Given the description of an element on the screen output the (x, y) to click on. 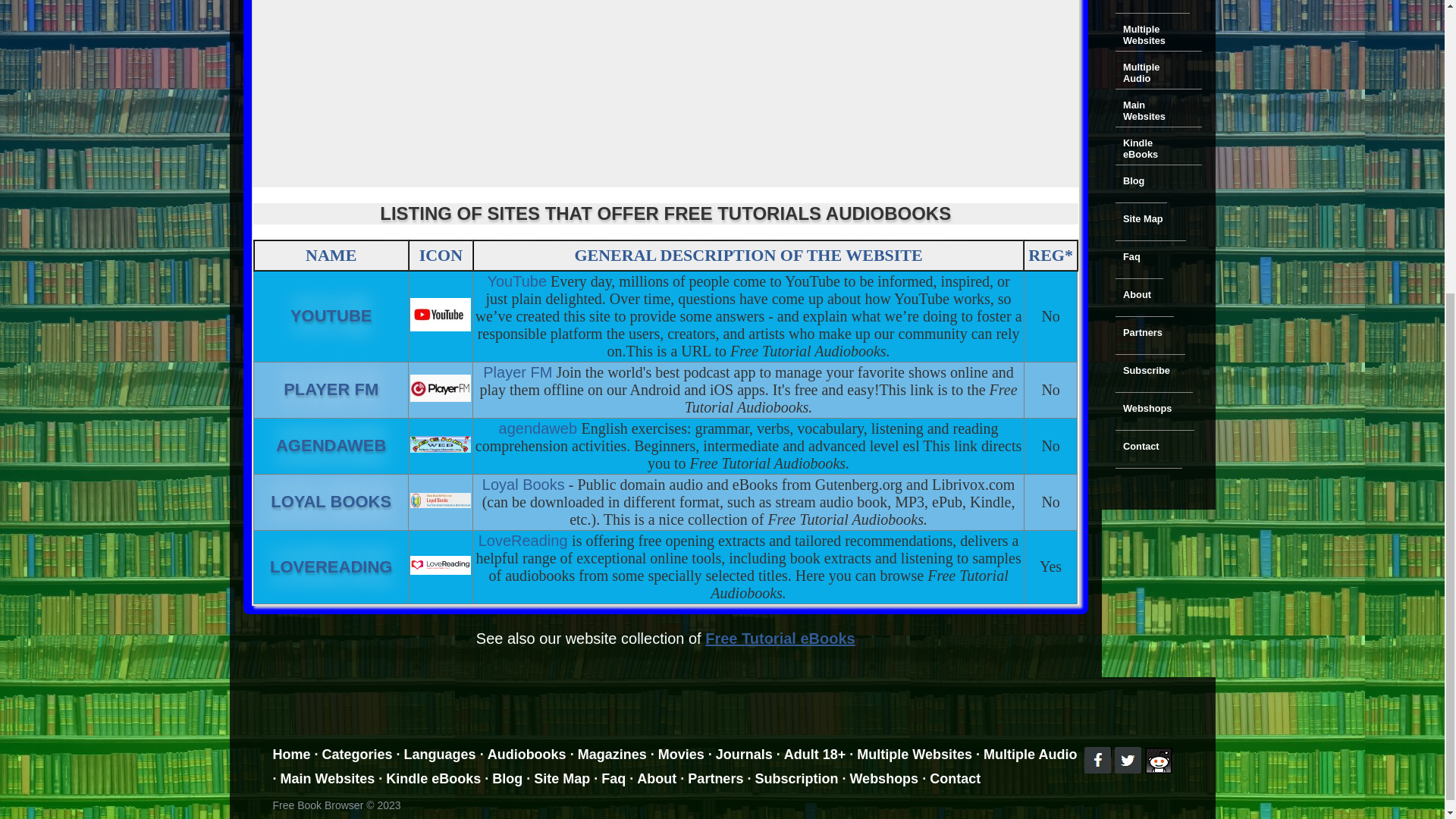
Multiple Audio (1150, 72)
LoveReading (525, 540)
Player FM (440, 388)
PLAYER FM (330, 389)
AGENDAWEB (440, 443)
agendaweb (330, 445)
LOYAL BOOKS (539, 428)
Multiple Websites (330, 501)
YouTube (1150, 34)
Advertisement (516, 280)
Player FM (440, 565)
Free Tutorial eBooks (440, 314)
